Given the description of an element on the screen output the (x, y) to click on. 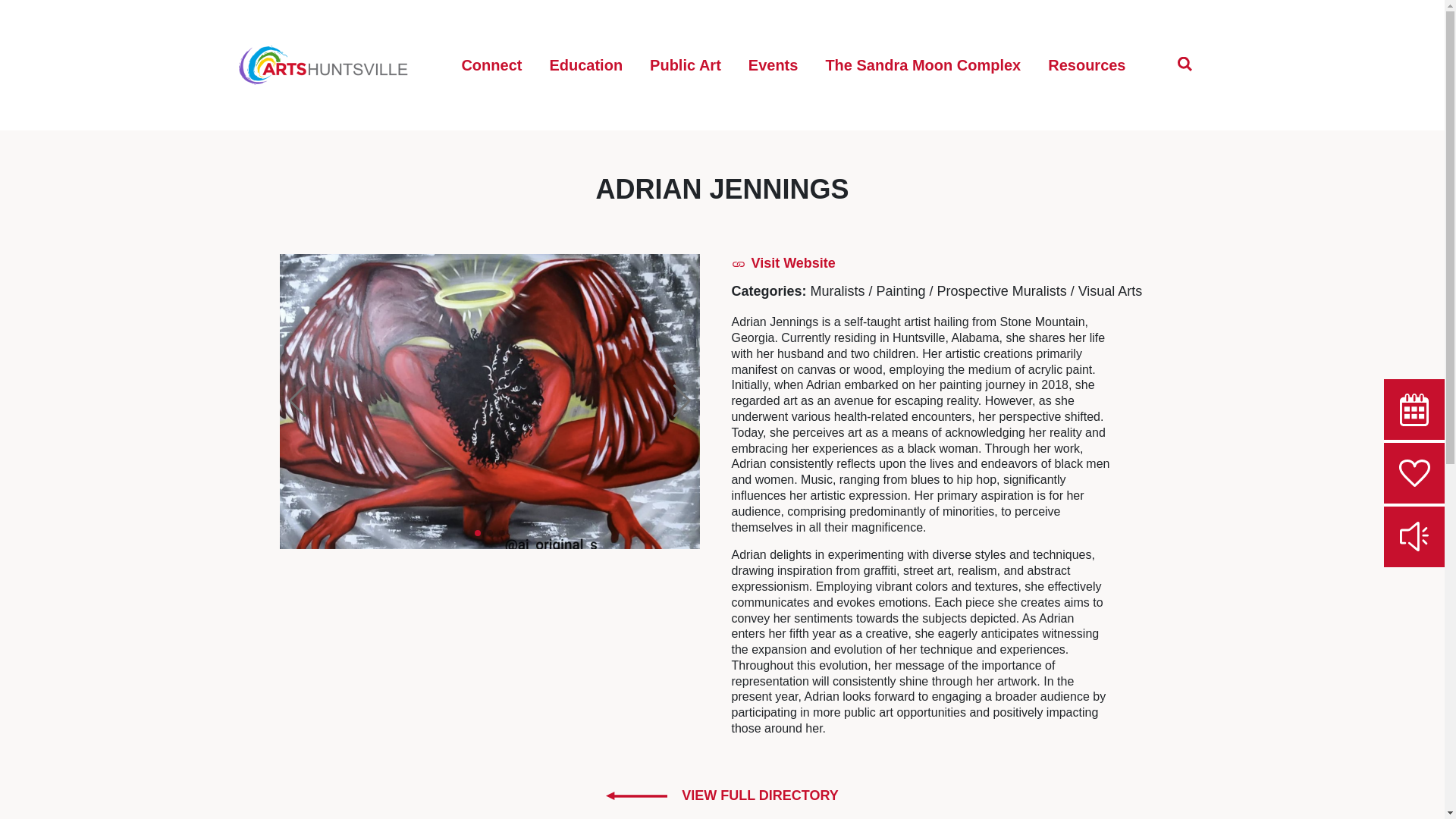
Education (585, 64)
Return home (323, 64)
Open Search (1184, 64)
The Sandra Moon Complex (921, 64)
Events (773, 64)
Connect (490, 64)
VIEW FULL DIRECTORY (721, 795)
Resources (1085, 64)
Public Art (685, 64)
Visit Website (782, 262)
